Given the description of an element on the screen output the (x, y) to click on. 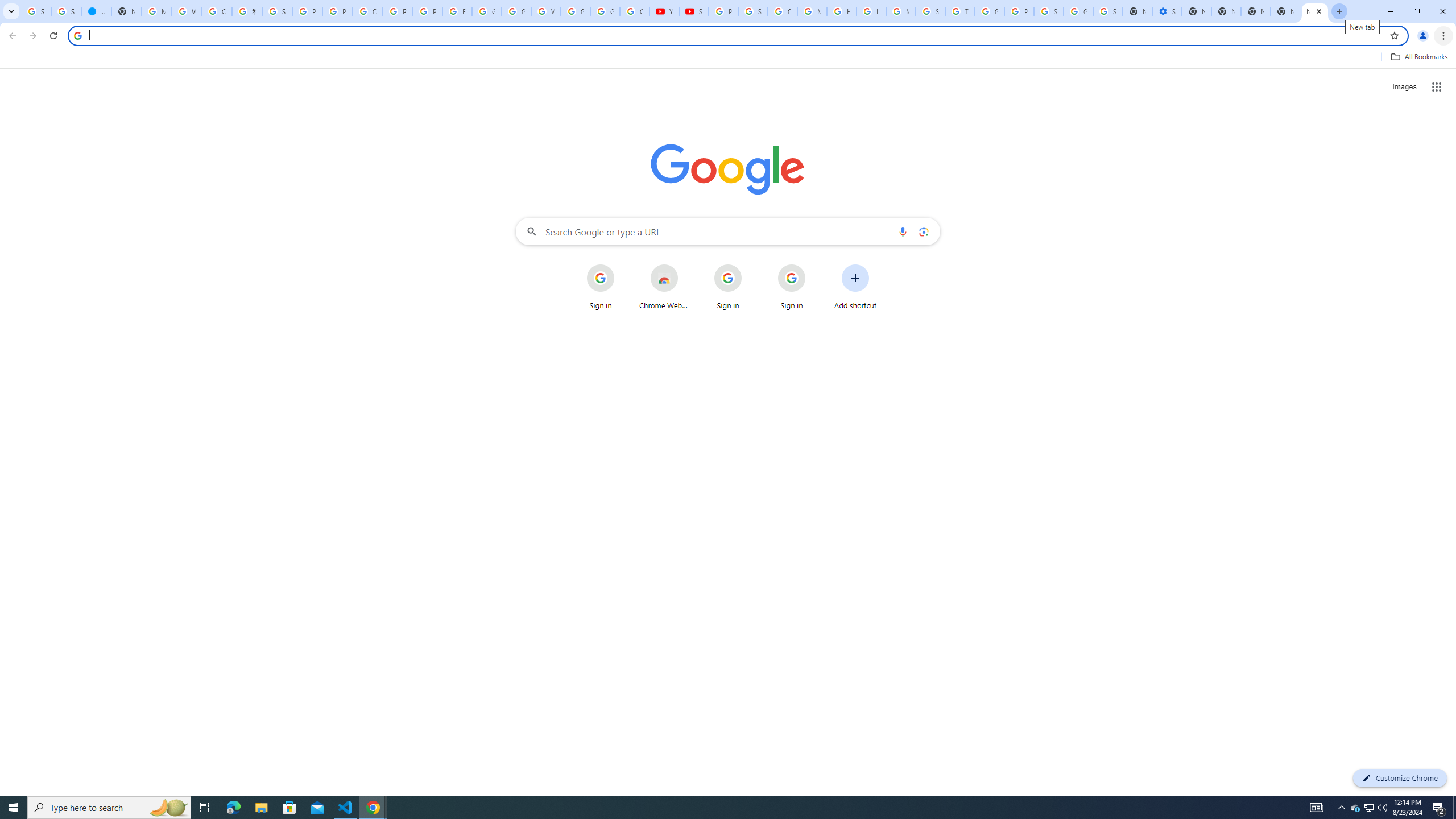
Edit and view right-to-left text - Google Docs Editors Help (456, 11)
YouTube (664, 11)
Search Google or type a URL (727, 230)
Chrome Web Store (663, 287)
Welcome to My Activity (545, 11)
